Given the description of an element on the screen output the (x, y) to click on. 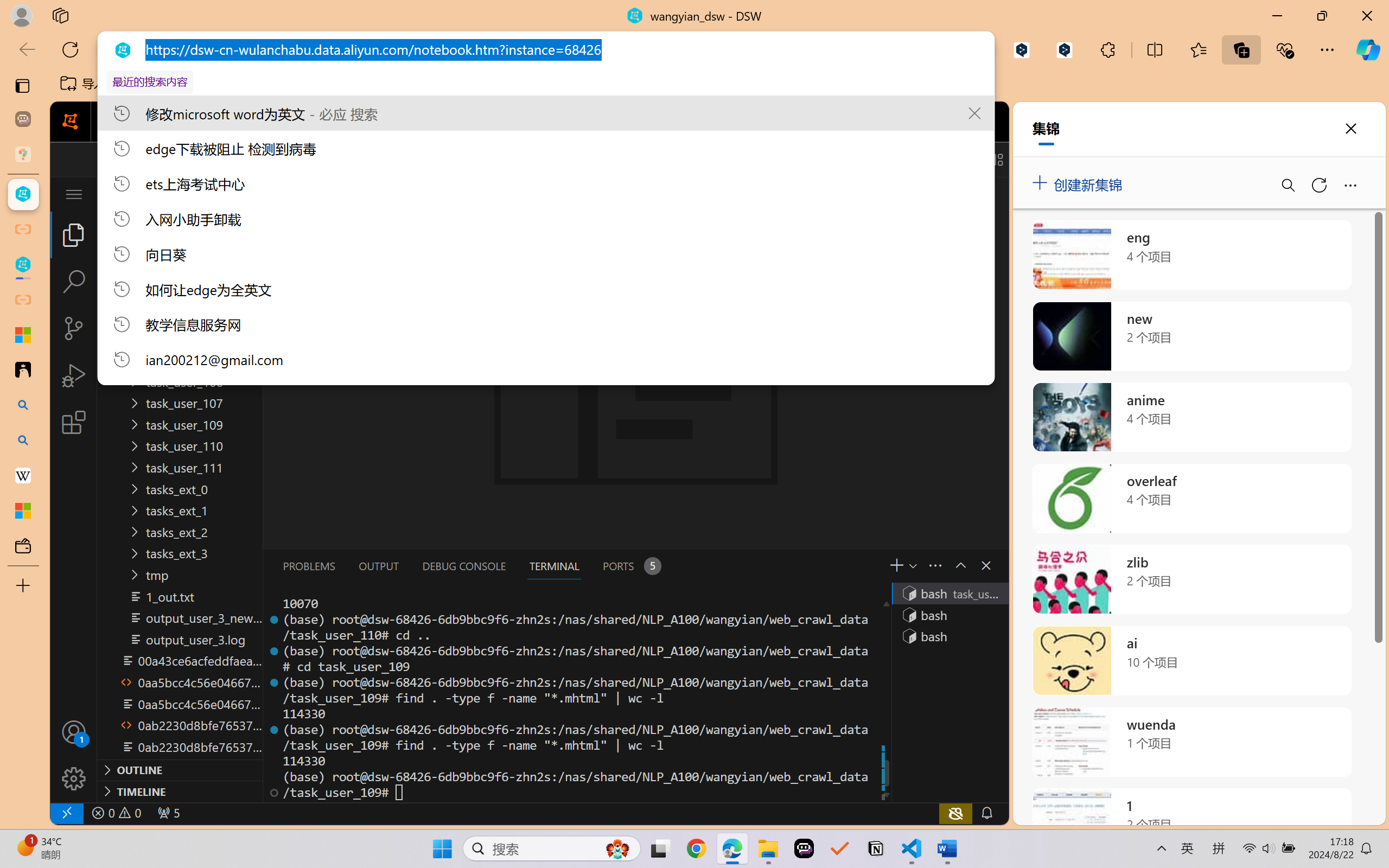
Accounts - Sign in requested (73, 732)
Debug Console (Ctrl+Shift+Y) (463, 565)
Copilot (Ctrl+Shift+.) (1368, 49)
Class: xterm-link-layer (574, 697)
Manage (73, 778)
No Problems (115, 812)
Toggle Secondary Side Bar (Ctrl+Alt+B) (969, 159)
Notifications (986, 812)
copilot-notconnected, Copilot error (click for details) (955, 812)
